Given the description of an element on the screen output the (x, y) to click on. 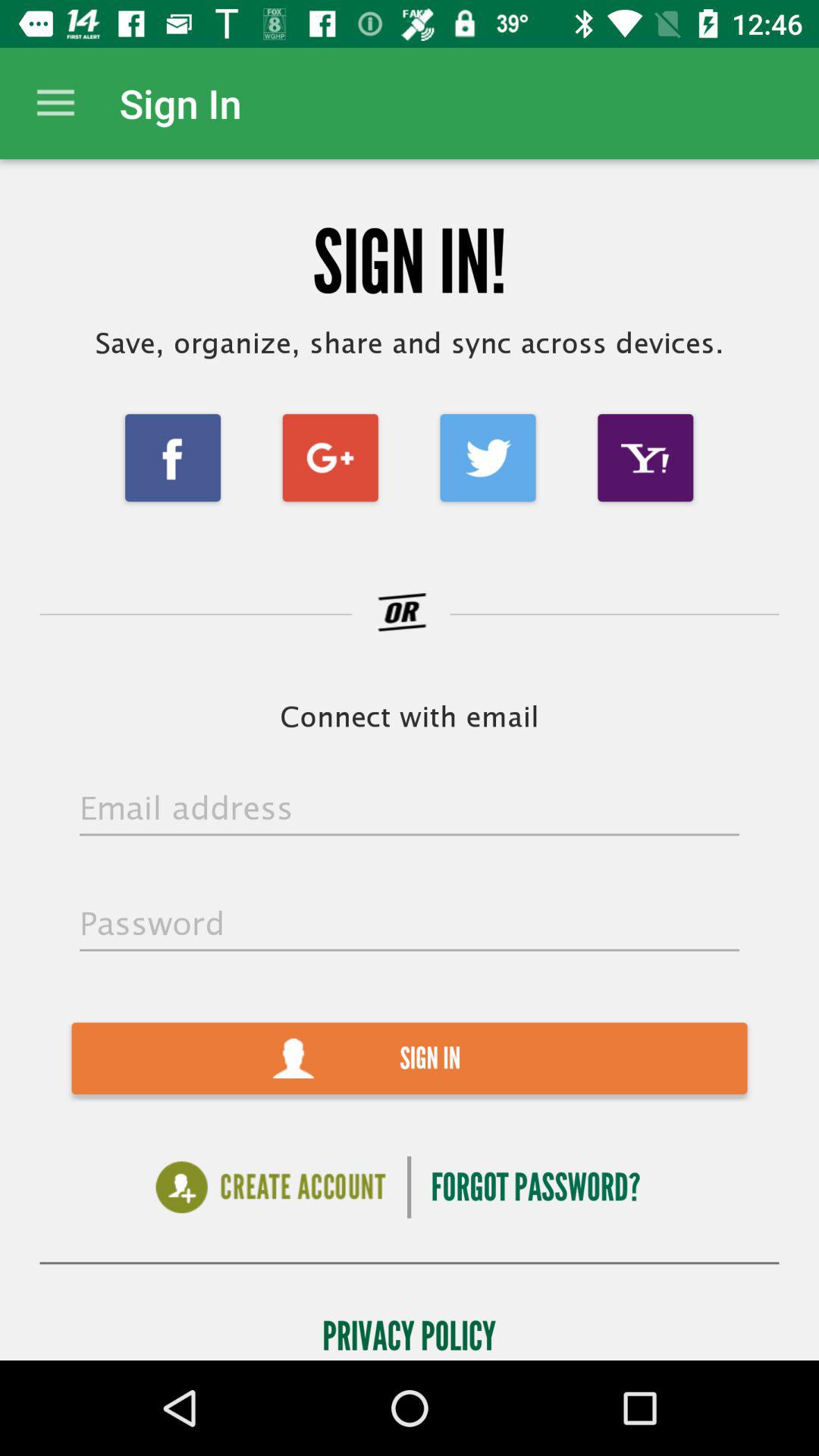
password (409, 924)
